Given the description of an element on the screen output the (x, y) to click on. 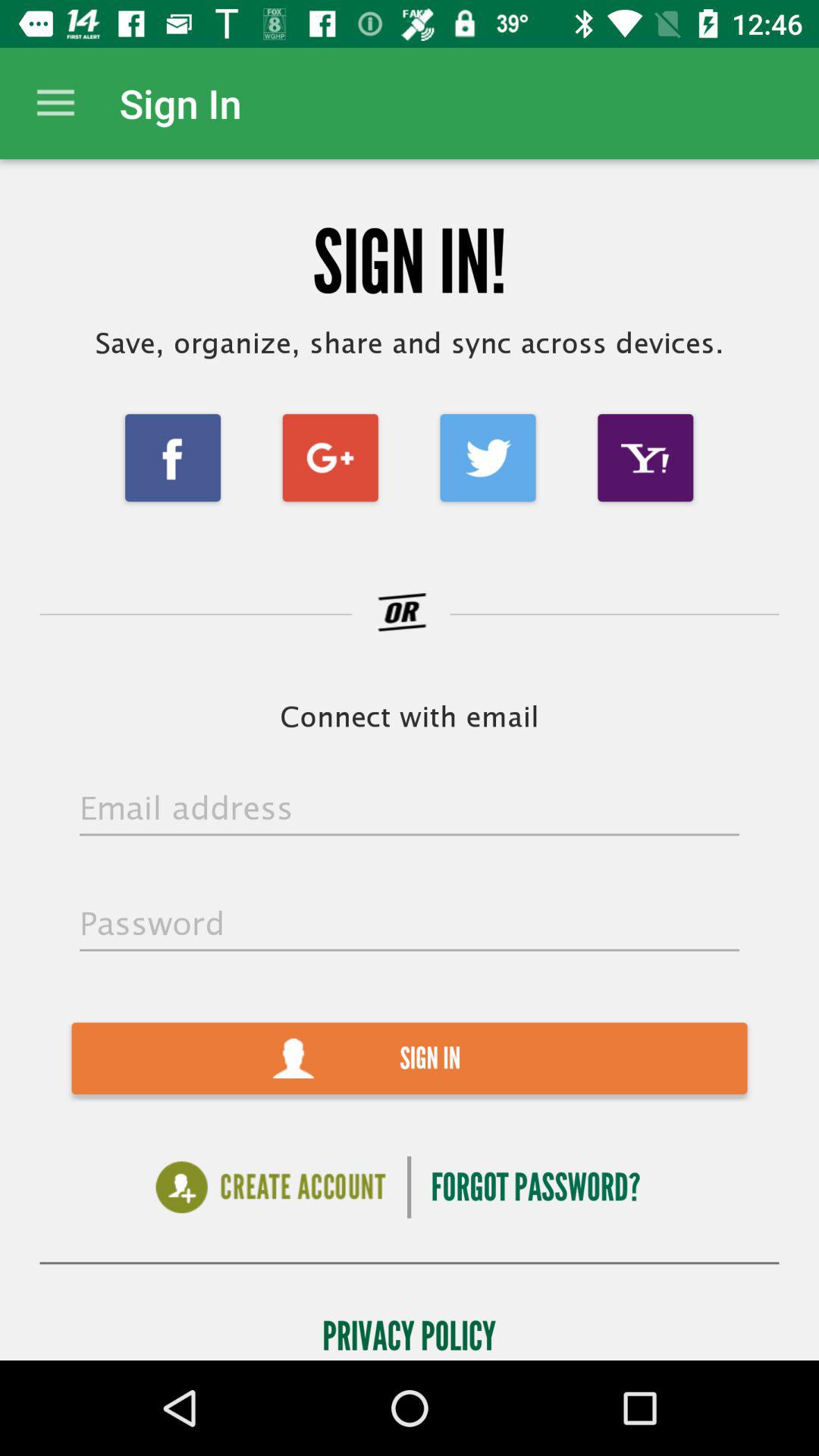
password (409, 924)
